Given the description of an element on the screen output the (x, y) to click on. 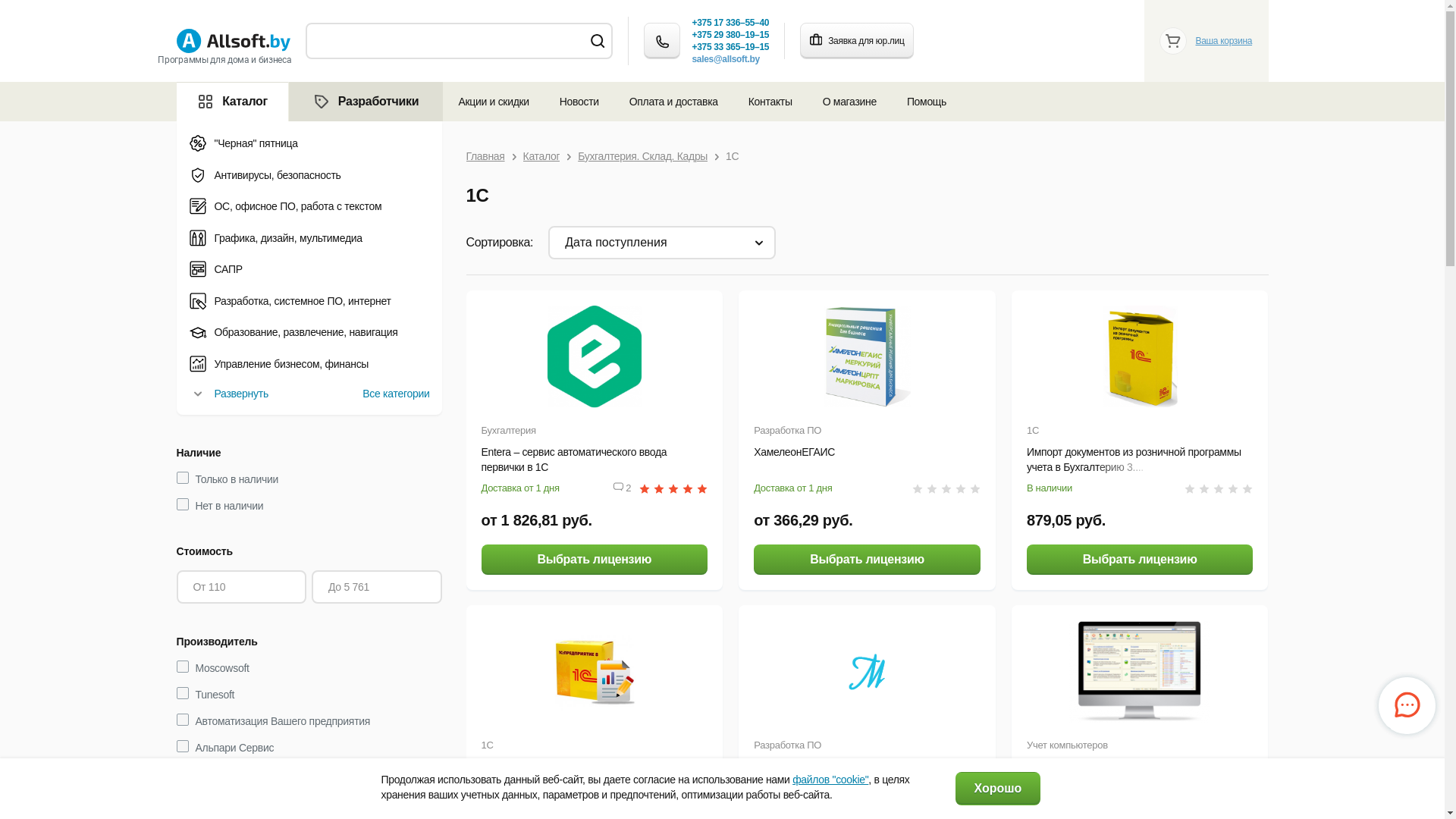
5 Element type: hover (673, 488)
0 Element type: hover (946, 803)
0 Element type: hover (1218, 803)
0 Element type: hover (946, 488)
allsoft.by Element type: hover (232, 40)
0 Element type: hover (673, 803)
0 Element type: hover (1218, 488)
sales@allsoft.by Element type: text (725, 58)
